Given the description of an element on the screen output the (x, y) to click on. 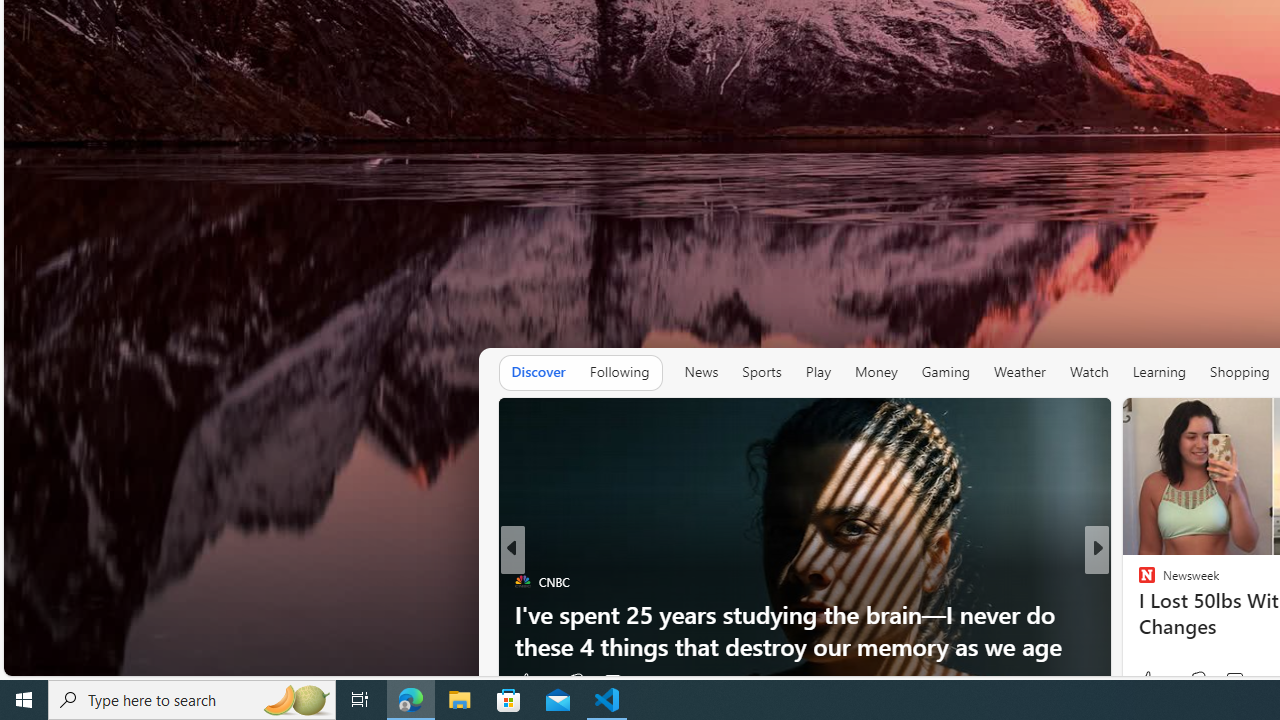
Investing.com (1138, 581)
The Hearty Soul (1138, 581)
Constative (1138, 581)
View comments 173 Comment (1246, 680)
Morning Carpool (1138, 614)
View comments 100 Comment (1247, 681)
View comments 35 Comment (1244, 681)
View comments 3 Comment (1234, 681)
CNBC (522, 581)
View comments 97 Comment (620, 681)
